Given the description of an element on the screen output the (x, y) to click on. 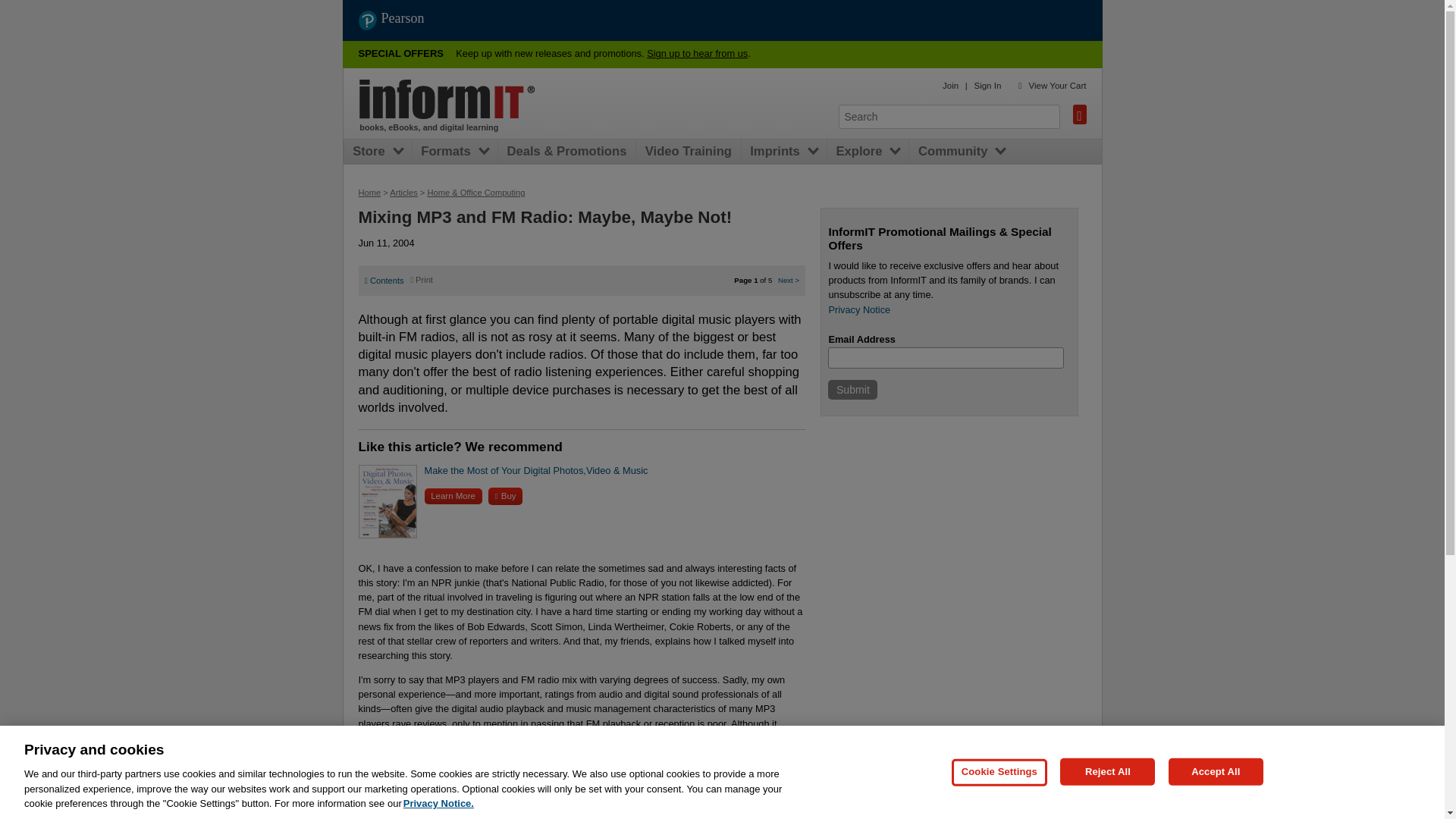
Submit (852, 389)
Sign In (987, 85)
Submit (852, 389)
Articles (403, 192)
Home (369, 192)
Privacy Notice (858, 309)
View Your Cart (1057, 85)
Store (372, 151)
Home (446, 98)
Join (950, 85)
Learn More (453, 496)
Print (421, 279)
Sign up to hear from us (697, 52)
